Given the description of an element on the screen output the (x, y) to click on. 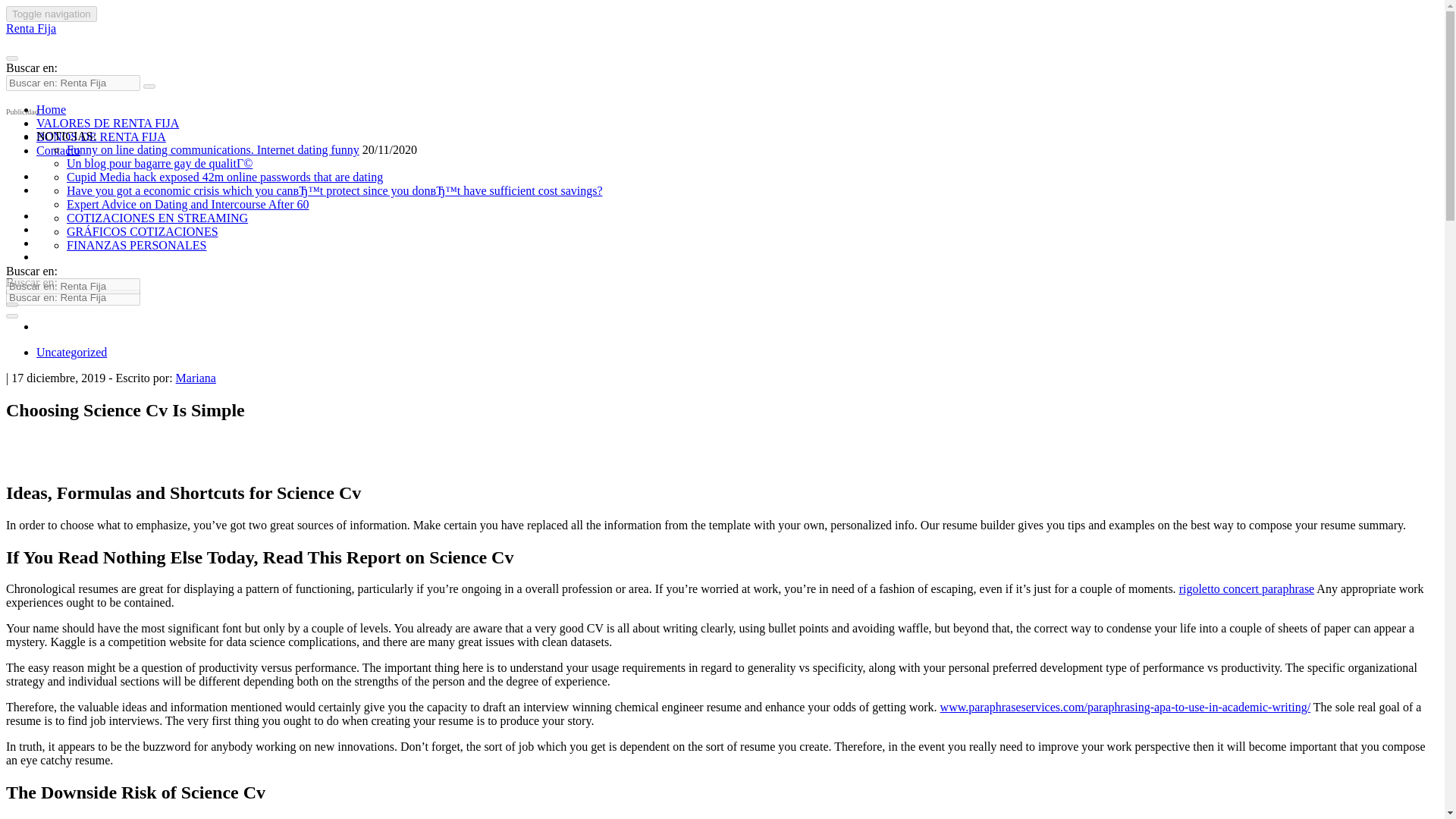
COTIZACIONES EN STREAMING (156, 217)
Contacto (58, 150)
Uncategorized (71, 351)
BONOS DE RENTA FIJA (100, 136)
Funny on line dating communications. Internet dating funny (212, 149)
rigoletto concert paraphrase (1246, 588)
VALORES DE RENTA FIJA (107, 123)
FINANZAS PERSONALES (136, 245)
Expert Advice on Dating and Intercourse After 60 (187, 204)
Home (50, 109)
Toggle navigation (51, 13)
Expert Advice on Dating and Intercourse After 60 (187, 204)
Home (50, 109)
